Given the description of an element on the screen output the (x, y) to click on. 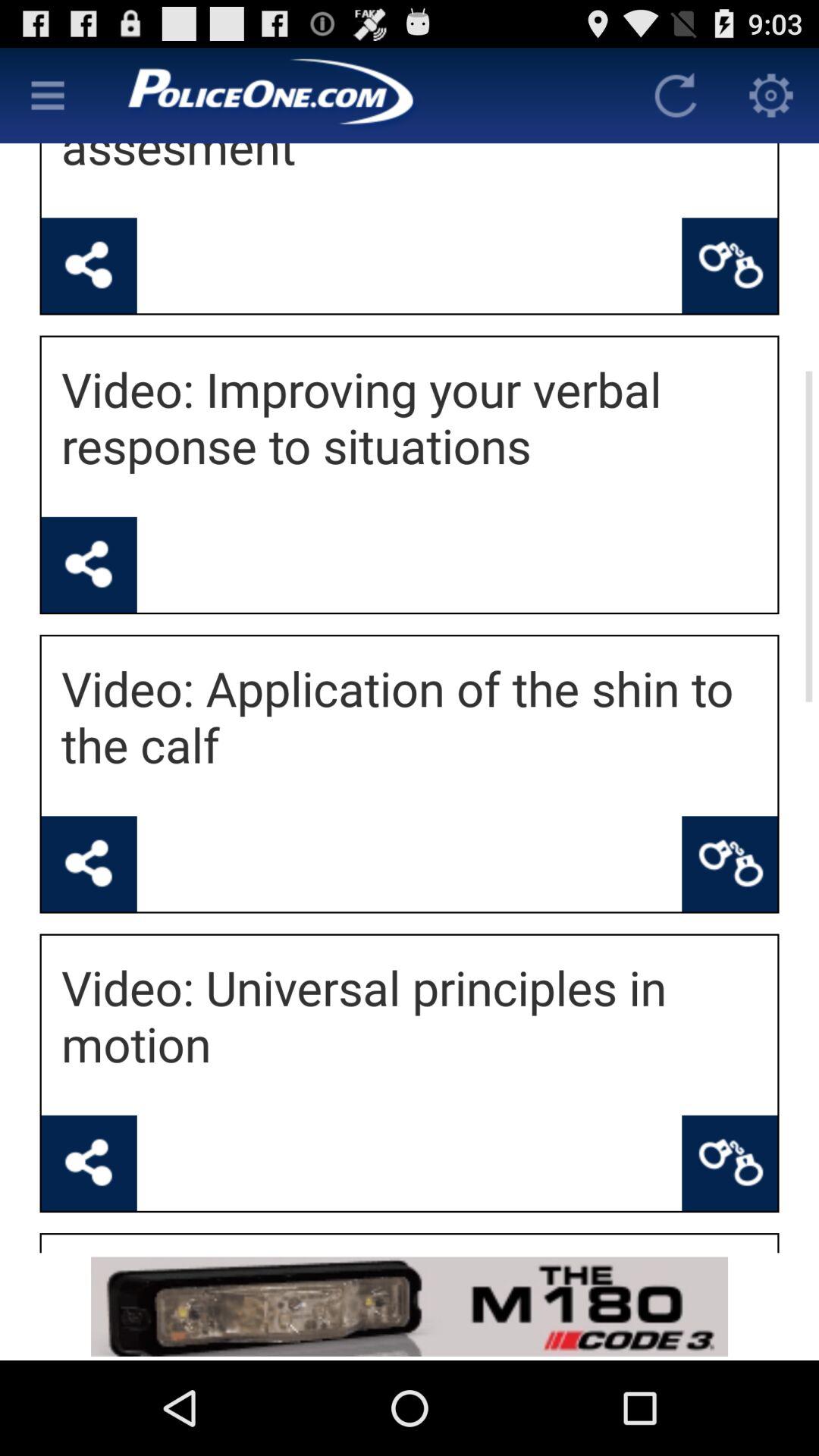
see video (89, 564)
